Given the description of an element on the screen output the (x, y) to click on. 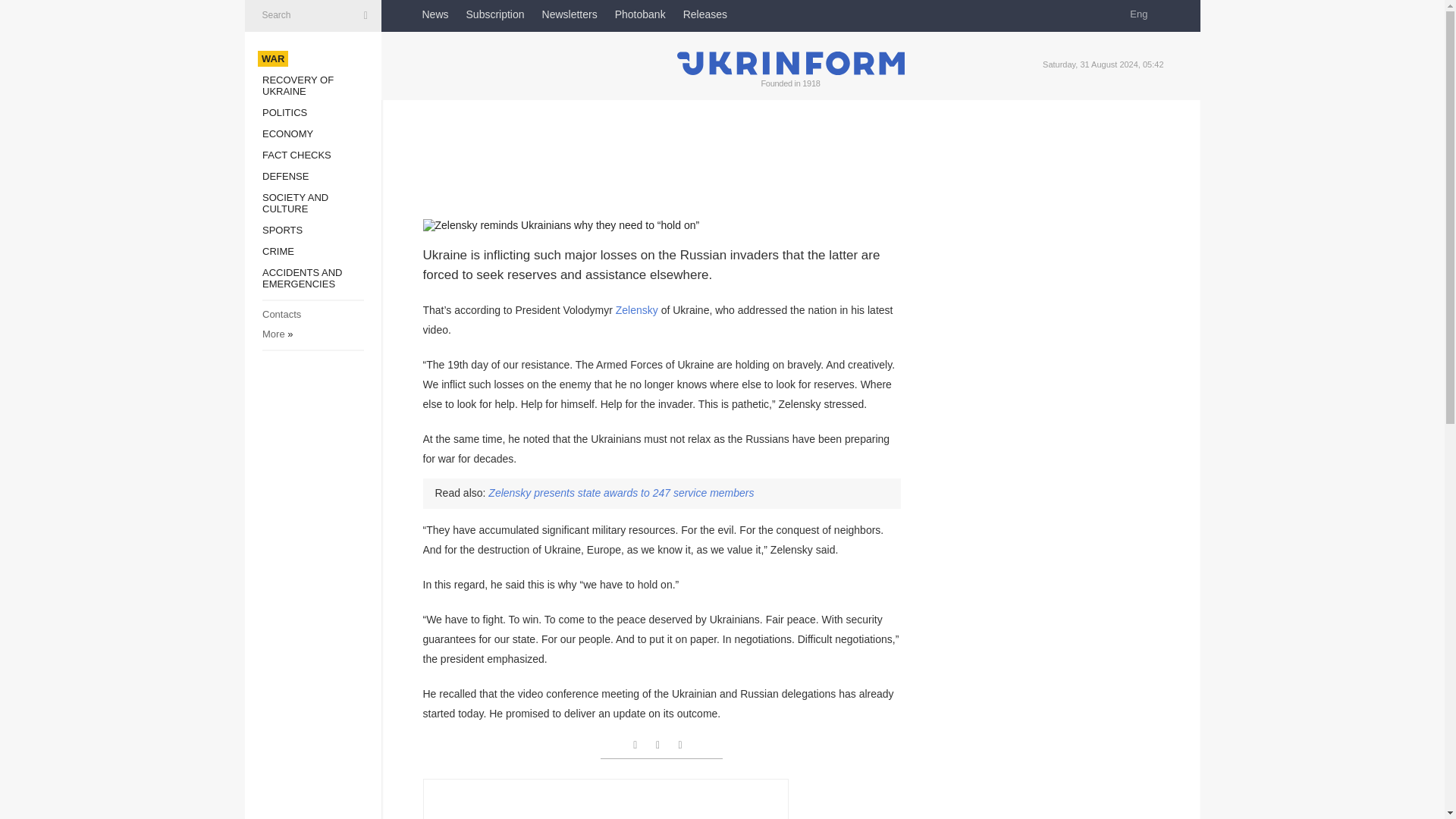
FreeDOM (767, 14)
Subscription (494, 14)
DEFENSE (285, 175)
SPORTS (282, 229)
Photobank (639, 14)
FACT CHECKS (296, 154)
RECOVERY OF UKRAINE (297, 85)
Newsletters (568, 14)
More (273, 333)
Releases (704, 14)
